Given the description of an element on the screen output the (x, y) to click on. 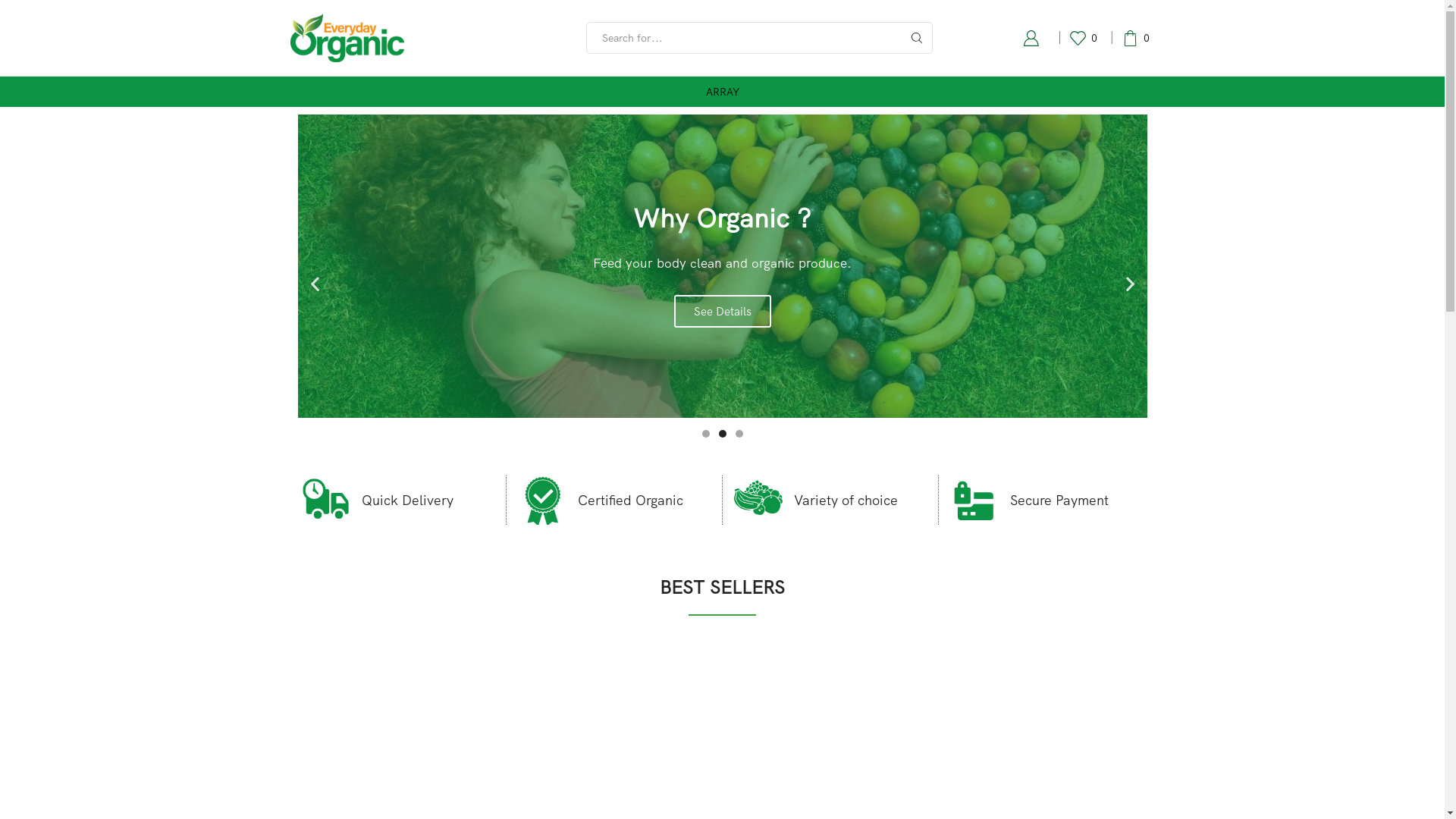
0 Element type: text (1138, 38)
0 Element type: text (1086, 38)
Log in Element type: text (924, 248)
